Given the description of an element on the screen output the (x, y) to click on. 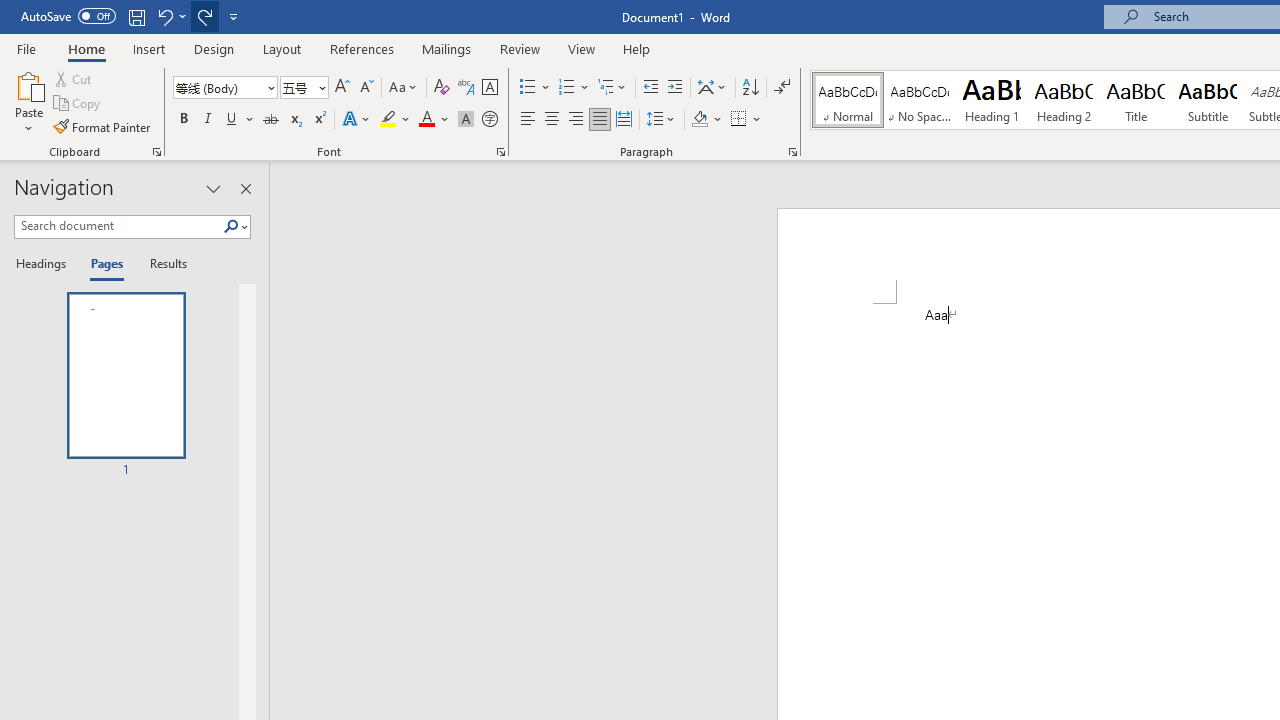
Distributed (623, 119)
Font Size (297, 87)
Font Color (434, 119)
Paste (28, 102)
Customize Quick Access Toolbar (234, 15)
Subscript (294, 119)
Pages (105, 264)
Search (235, 227)
Bold (183, 119)
Mailings (447, 48)
Search (231, 227)
Sort... (750, 87)
Heading 2 (1063, 100)
Insert (149, 48)
